Given the description of an element on the screen output the (x, y) to click on. 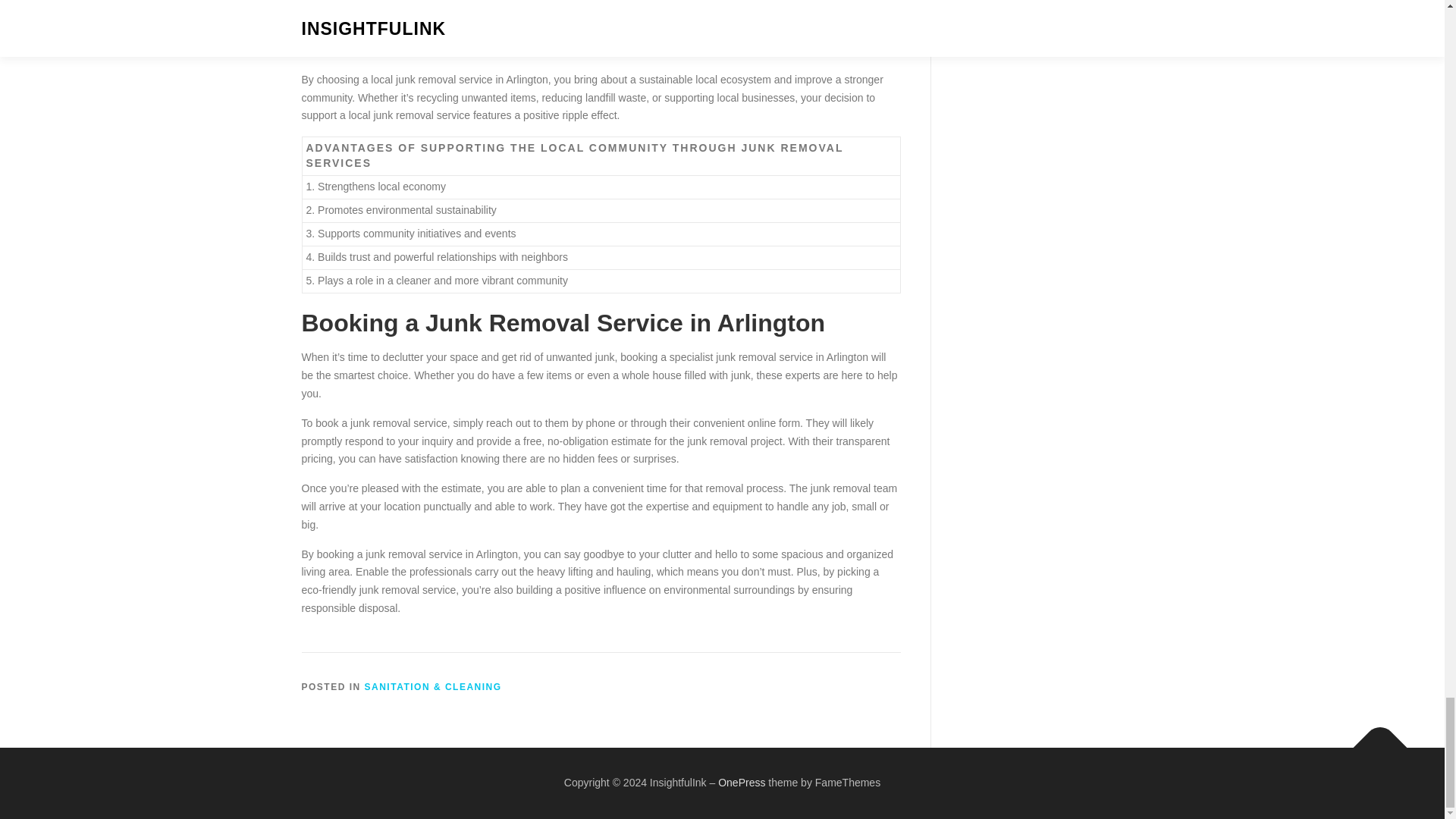
Back To Top (1372, 740)
